Given the description of an element on the screen output the (x, y) to click on. 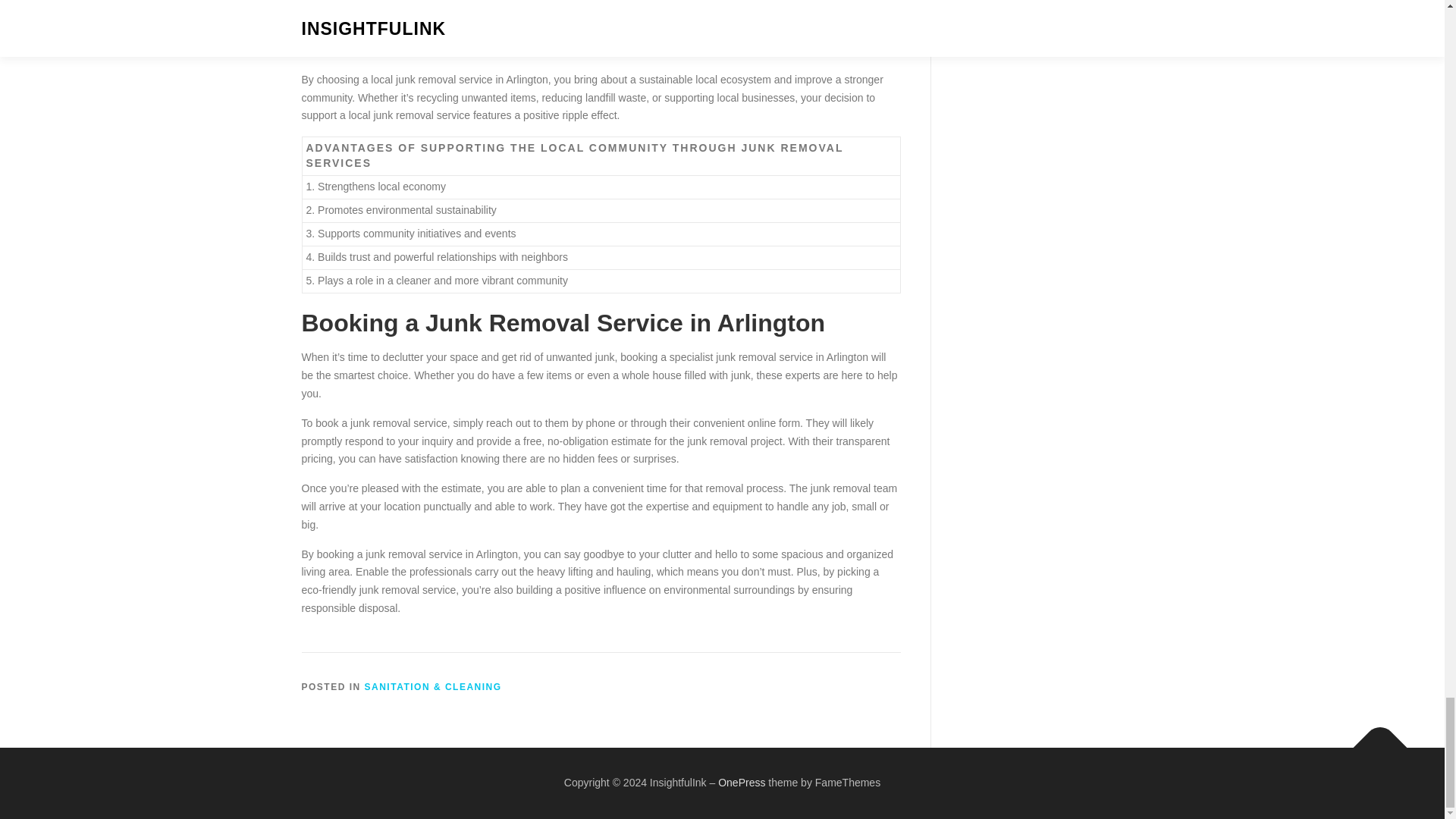
Back To Top (1372, 740)
